Given the description of an element on the screen output the (x, y) to click on. 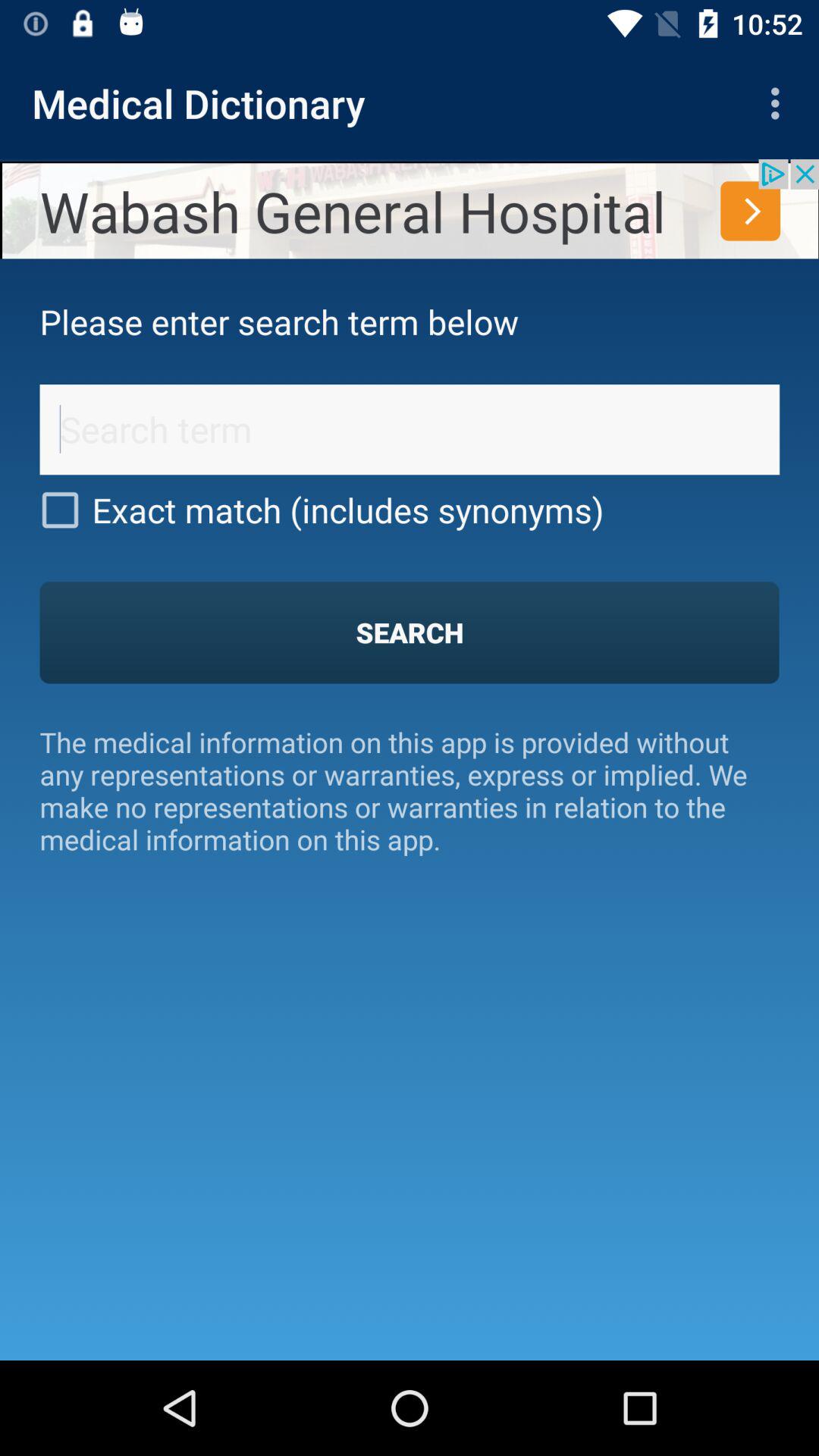
type your search (409, 429)
